Given the description of an element on the screen output the (x, y) to click on. 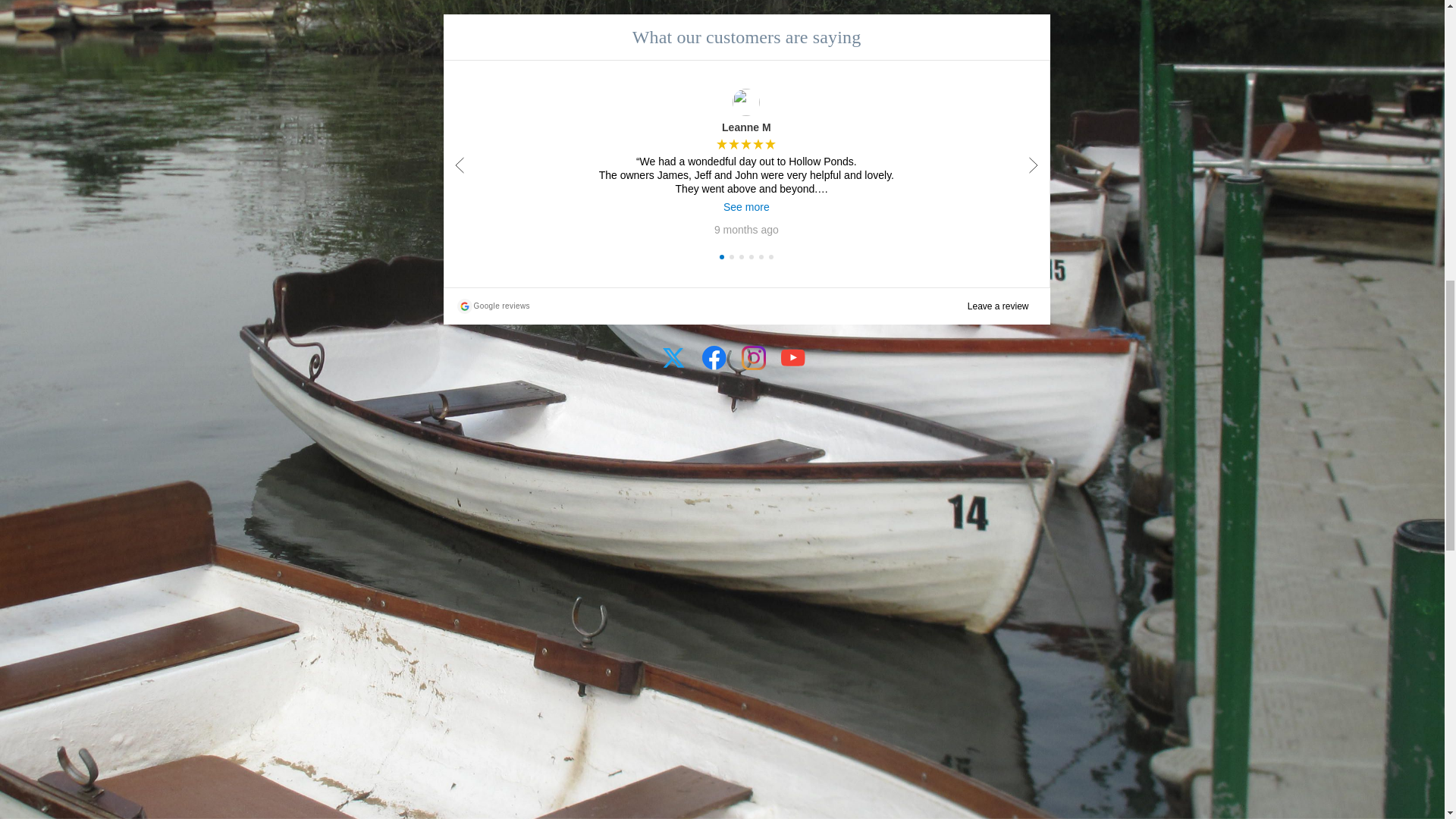
Leave a review (998, 305)
Google reviews (491, 306)
